Given the description of an element on the screen output the (x, y) to click on. 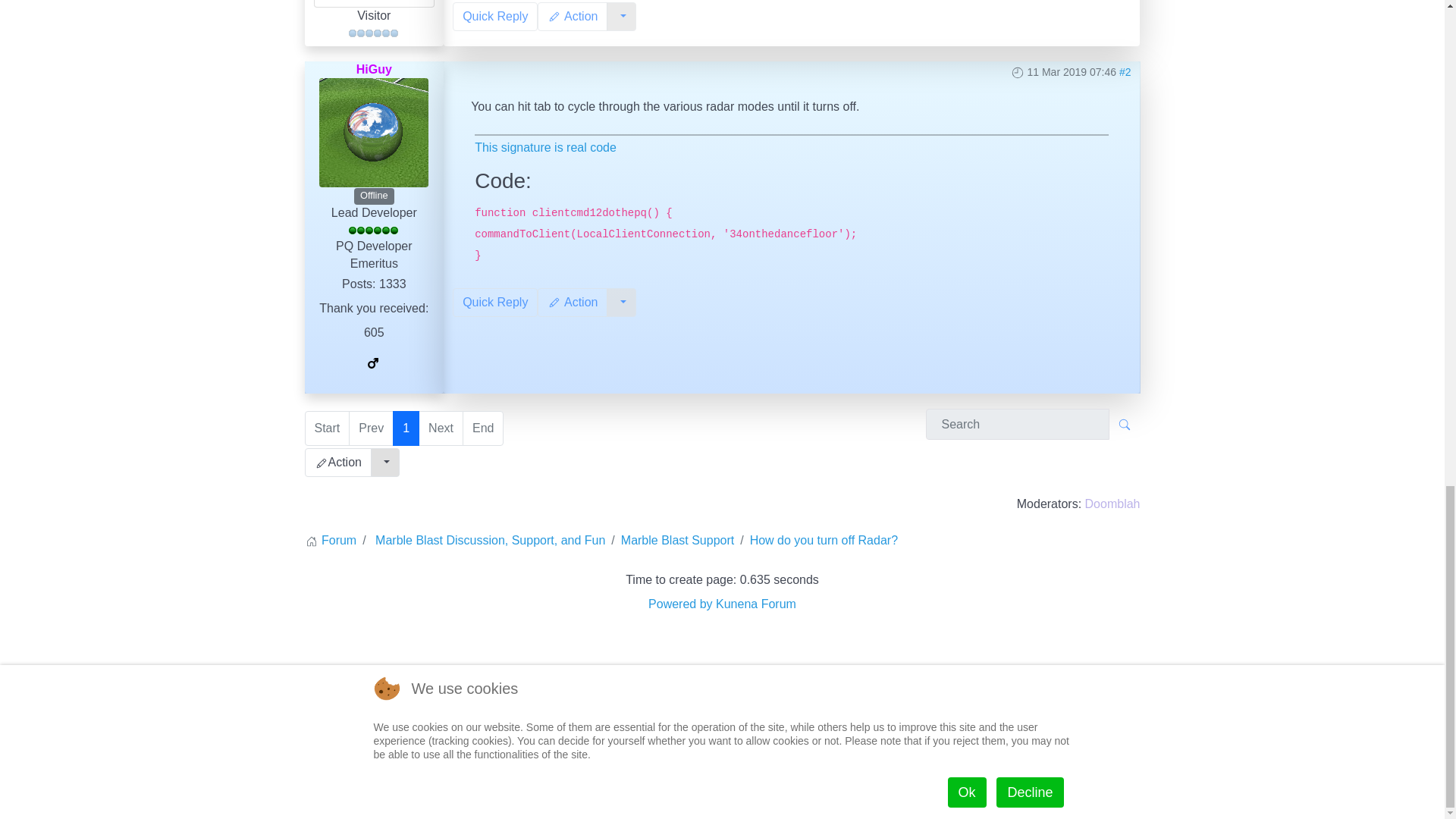
11 Mar 2019 07:46 (1071, 71)
Enter here your item to search (1016, 423)
Personal Website (373, 380)
Gender: Male (372, 356)
